Given the description of an element on the screen output the (x, y) to click on. 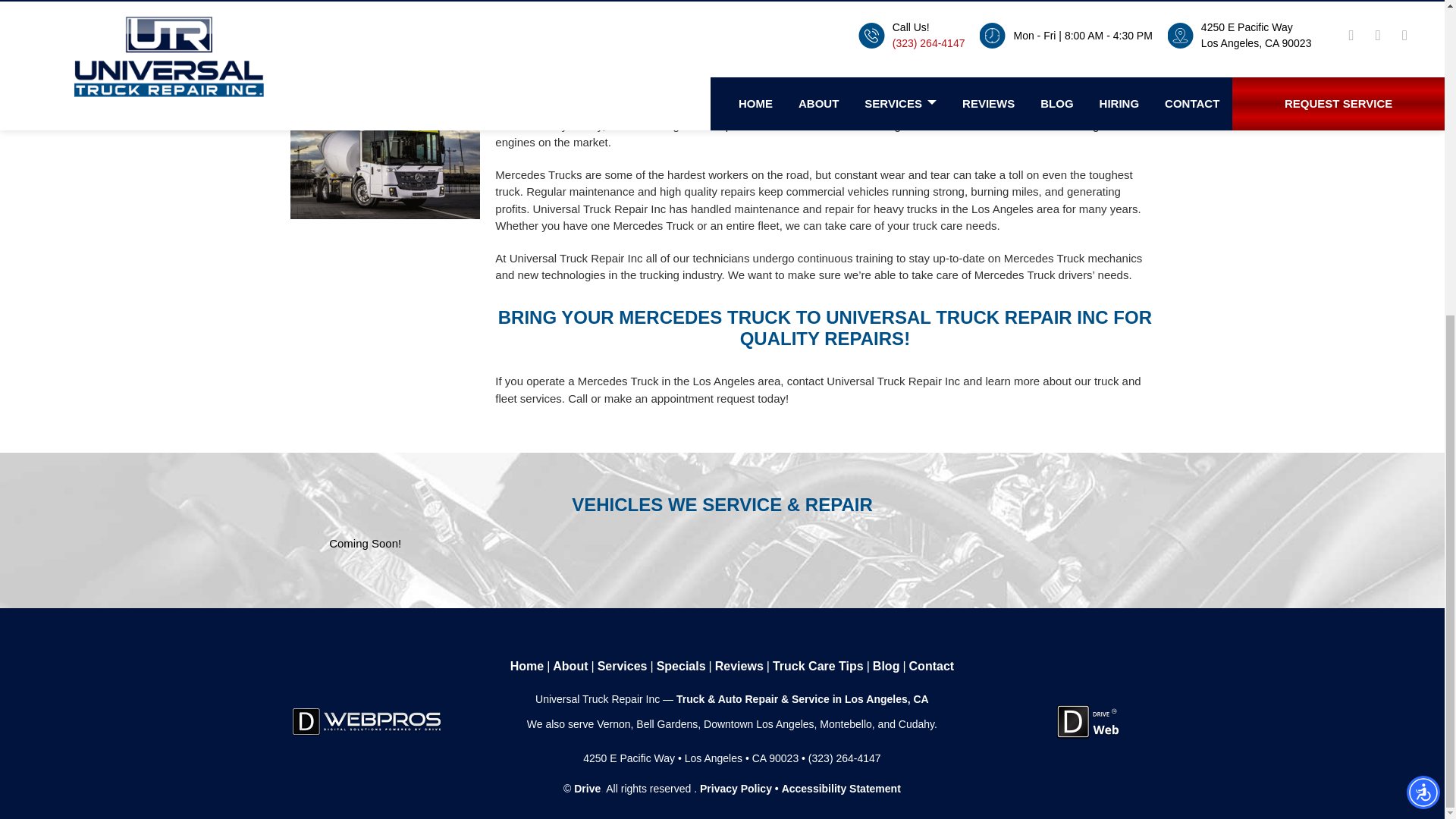
Services (622, 666)
About (570, 666)
Coming Soon! (365, 543)
Accessibility Menu (1422, 286)
